Given the description of an element on the screen output the (x, y) to click on. 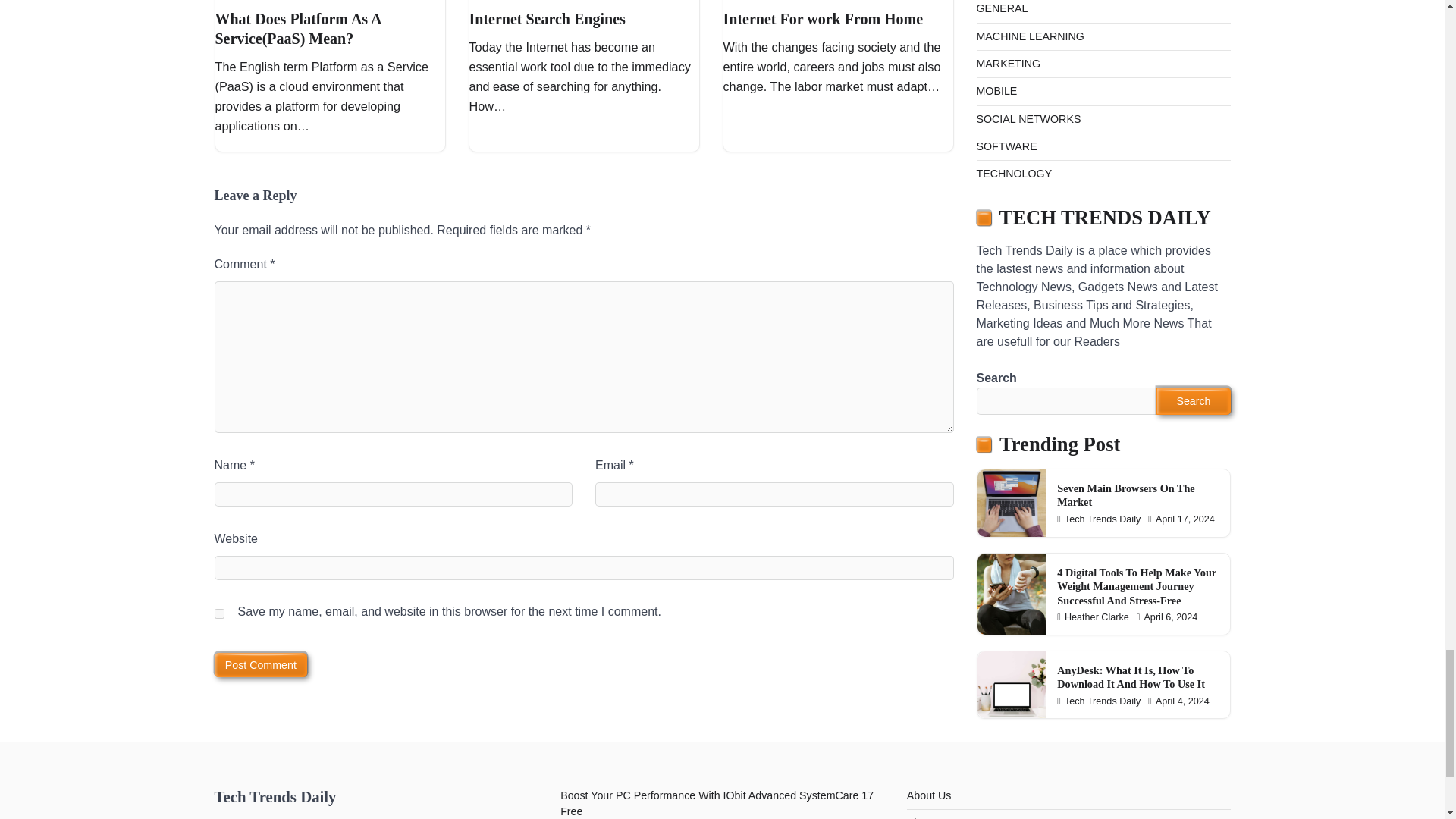
yes (219, 614)
Post Comment (260, 664)
